Given the description of an element on the screen output the (x, y) to click on. 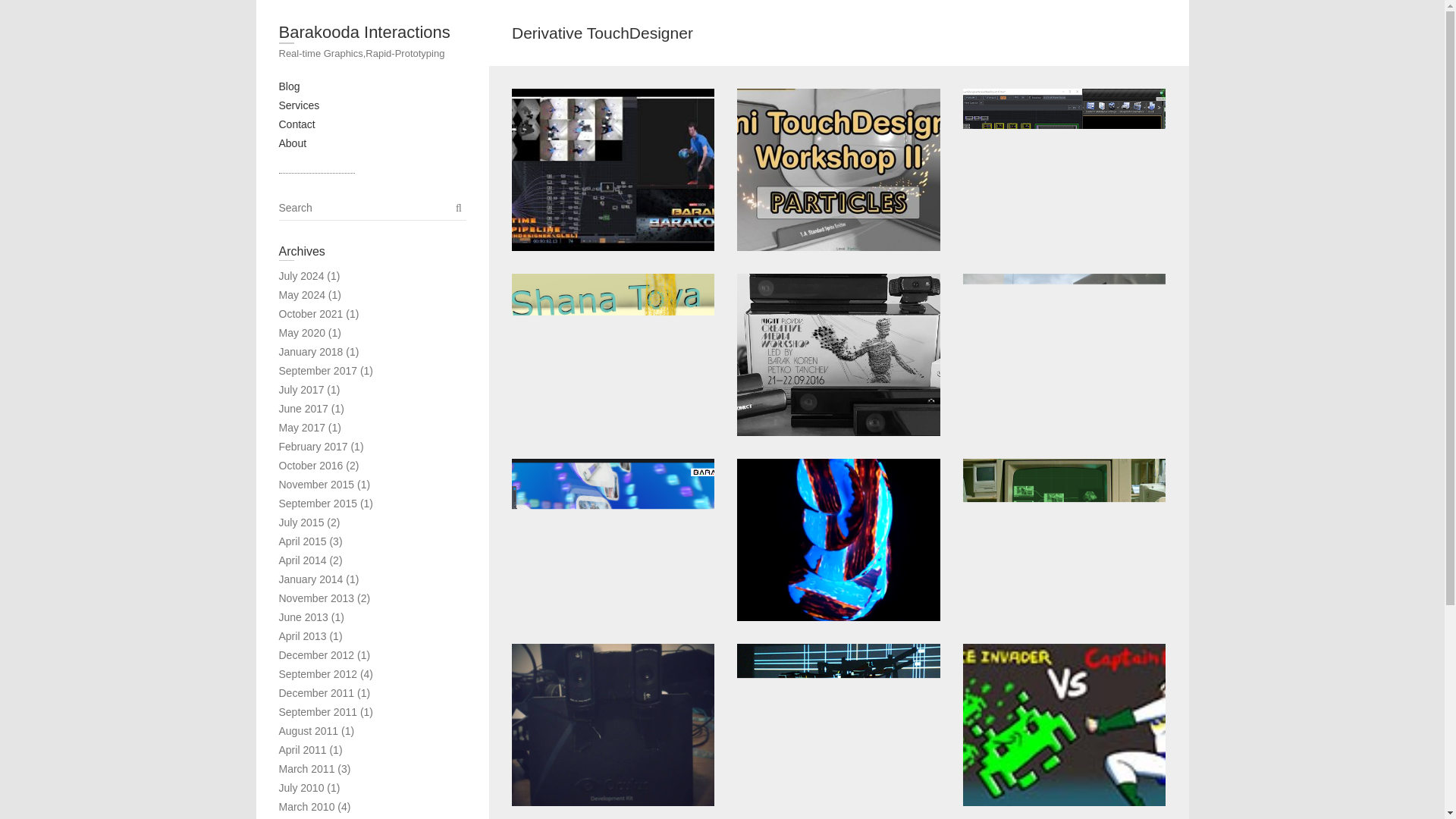
Blog (289, 86)
January 2018 (311, 351)
October 2016 (311, 465)
April 2014 (302, 560)
May 2017 (301, 427)
3D space points traveling. (613, 539)
Augmented reality live stage First Prototype (1064, 354)
May 2024 (301, 295)
April 2015 (302, 541)
Contact (297, 123)
